Given the description of an element on the screen output the (x, y) to click on. 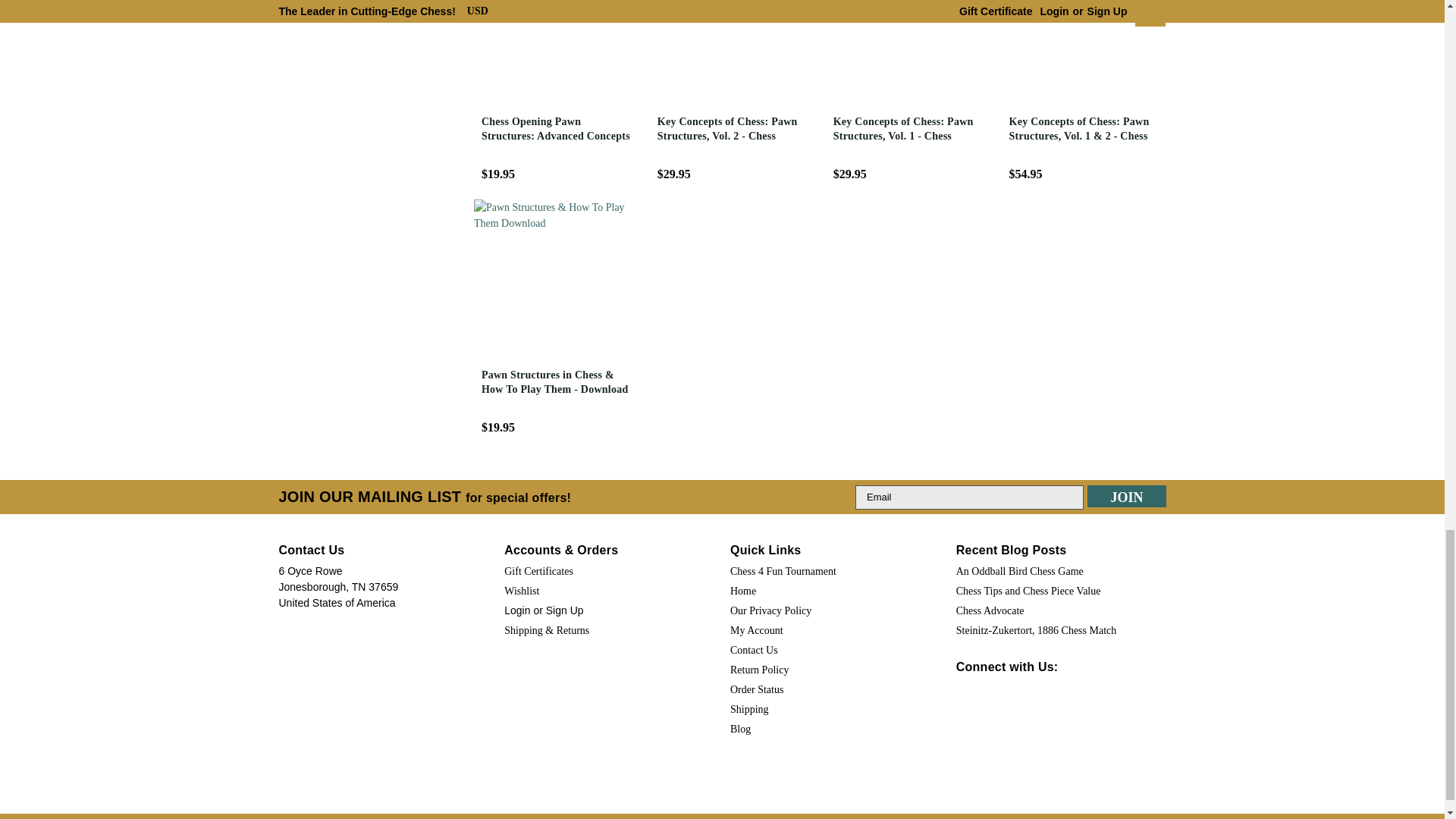
Opening Pawn Structures: Advanced Concepts Volume 1 (556, 55)
Join (1126, 497)
